Given the description of an element on the screen output the (x, y) to click on. 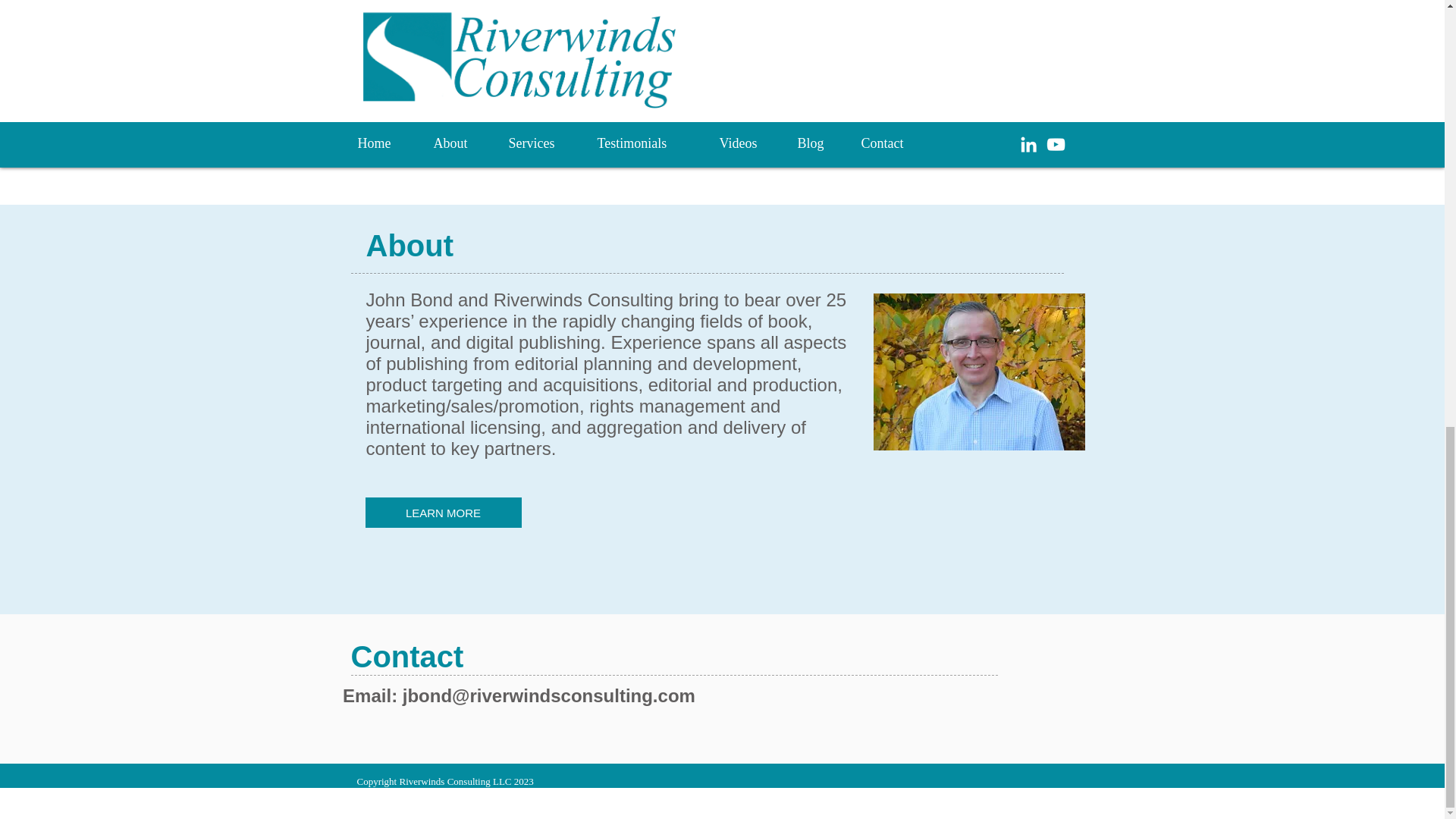
LEARN MORE (443, 512)
Riverwinds Consulting (978, 371)
